Given the description of an element on the screen output the (x, y) to click on. 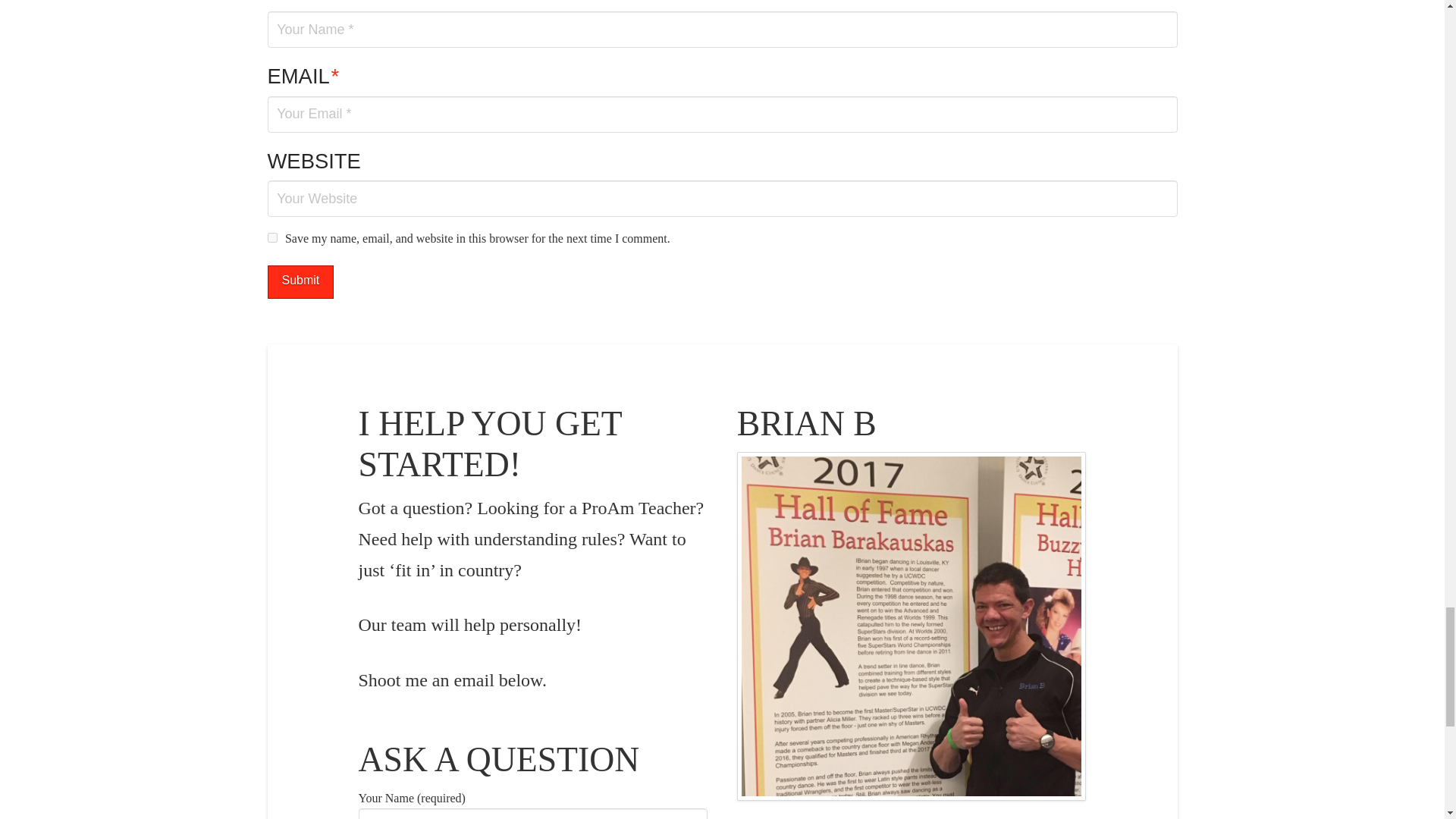
Submit (299, 282)
yes (271, 237)
